Given the description of an element on the screen output the (x, y) to click on. 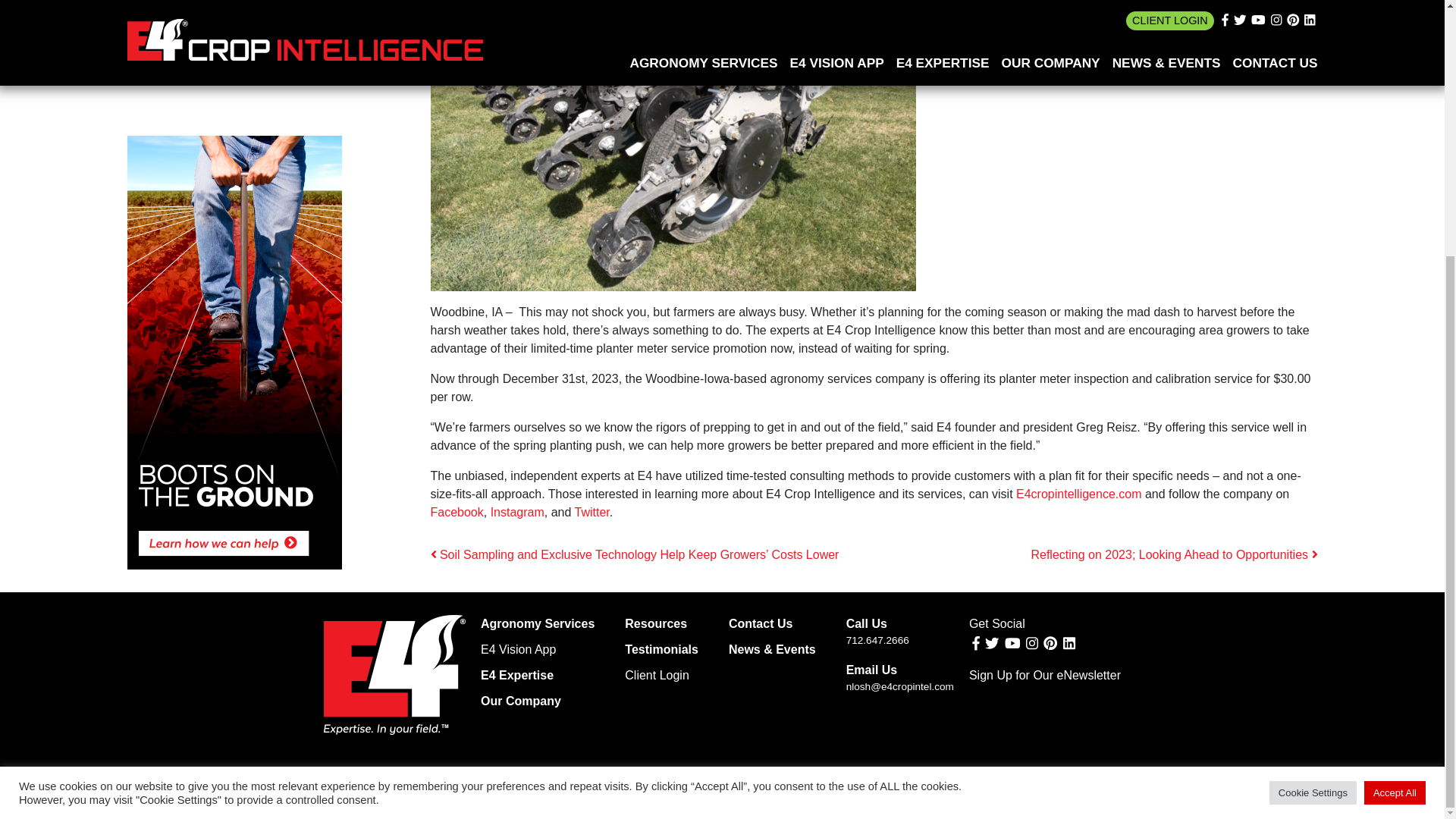
Follow us on Twitter (991, 643)
Follow us on Instagram (1032, 643)
Follow us on Facebook (975, 643)
Follow us on LinkedIn (1068, 643)
Follow us on Pinteres (1050, 643)
Follow us on YouTube (1012, 643)
